Given the description of an element on the screen output the (x, y) to click on. 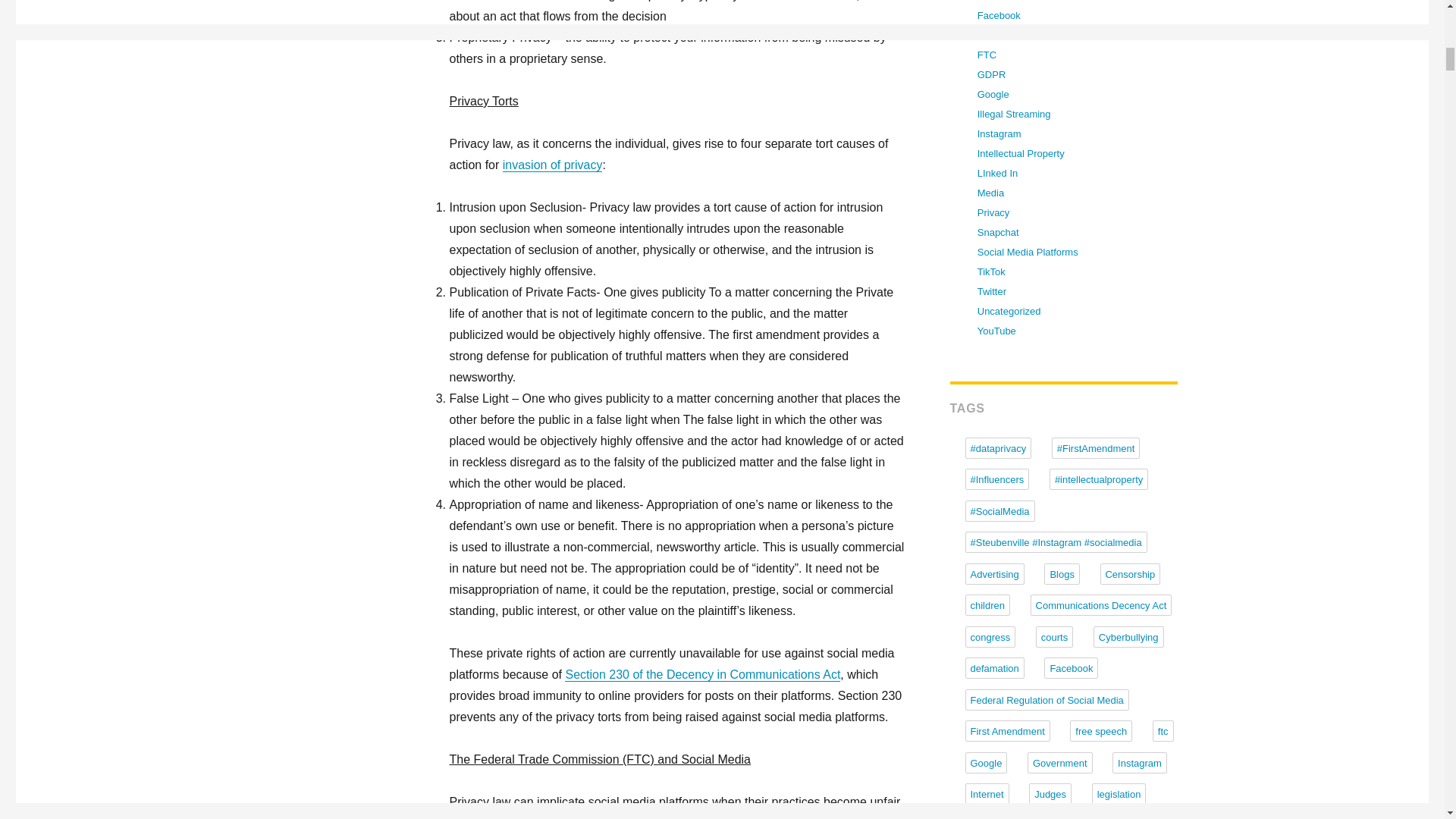
Section 230 of the Decency in Communications Act (702, 674)
invasion of privacy (552, 164)
Subscribe me! (1059, 291)
